Given the description of an element on the screen output the (x, y) to click on. 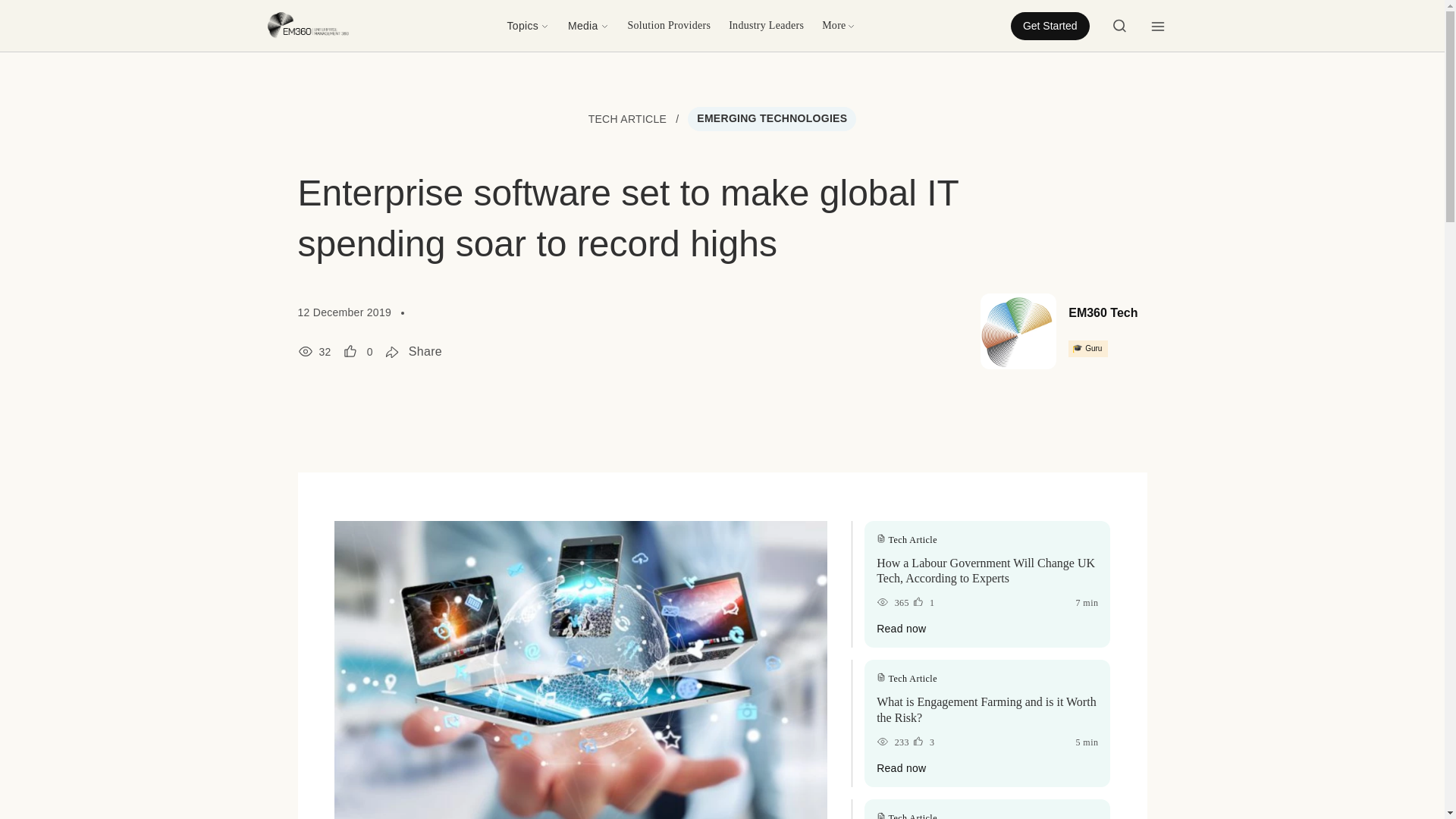
Home (309, 24)
Skip to main content (60, 11)
